Given the description of an element on the screen output the (x, y) to click on. 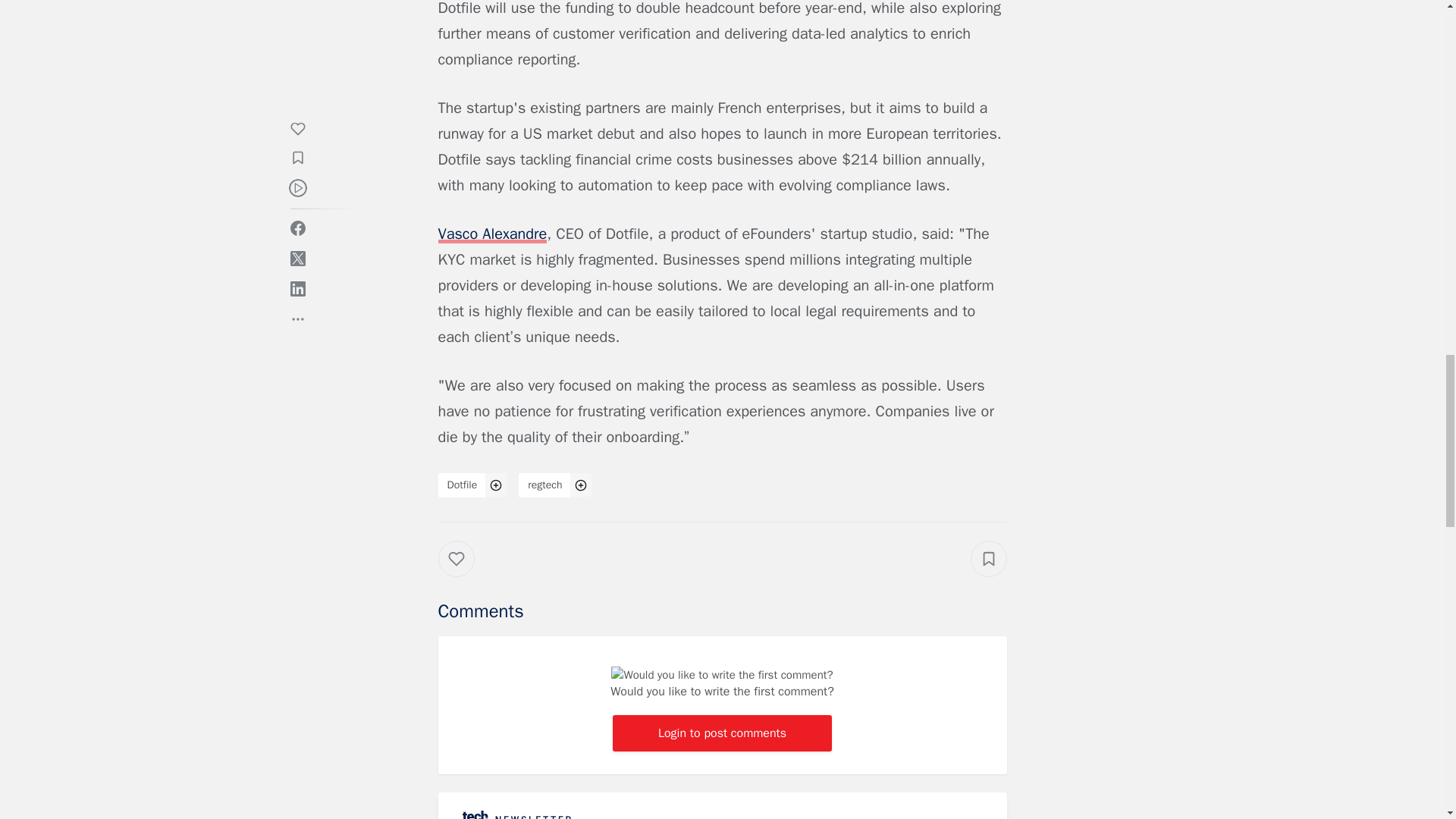
Add to collection (989, 558)
regtech (544, 485)
Like (467, 572)
Dotfile (462, 485)
